Given the description of an element on the screen output the (x, y) to click on. 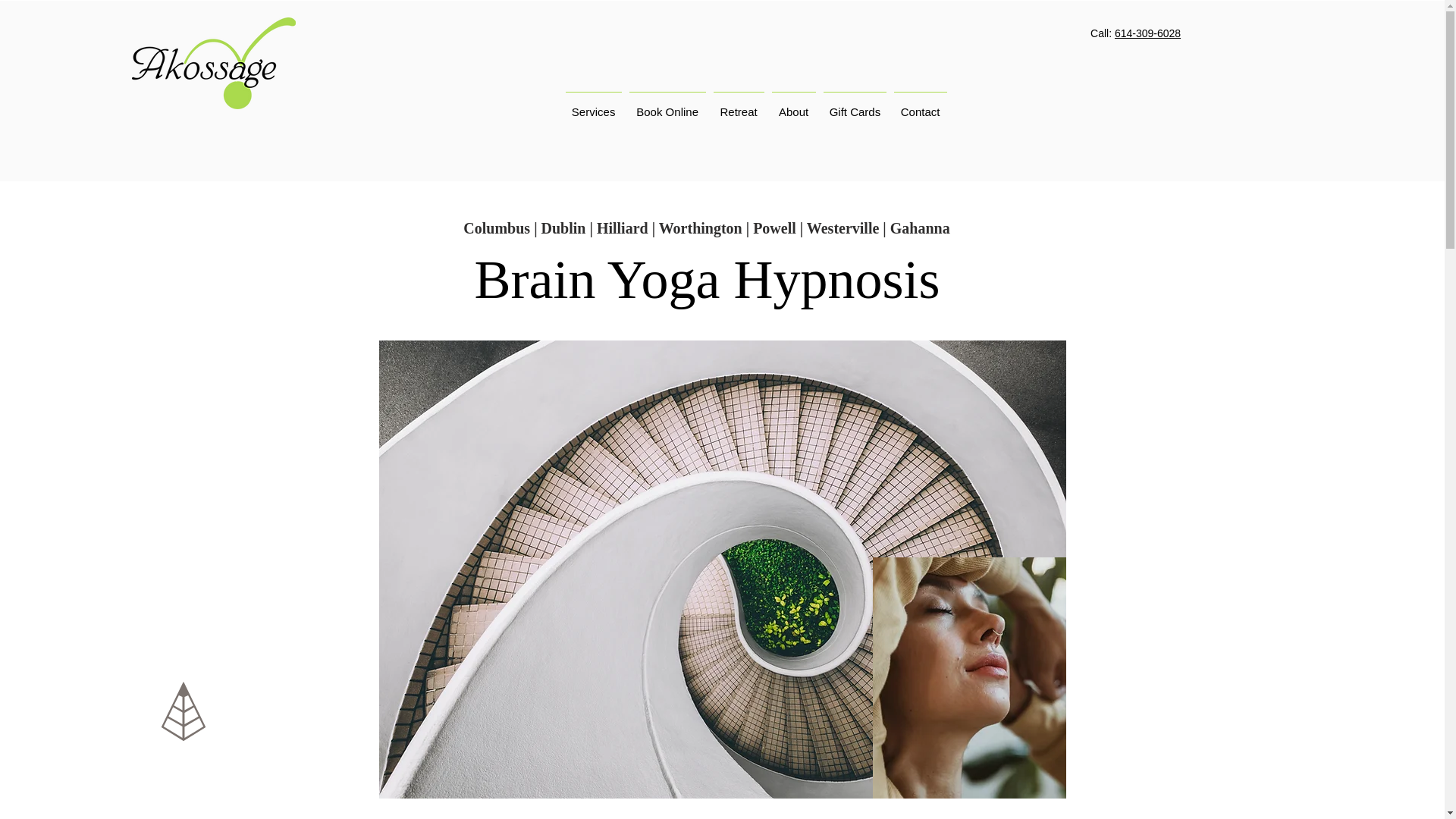
Retreat (739, 104)
About (793, 104)
Gift Cards (854, 104)
614-309-6028 (1147, 33)
Book Online (668, 104)
Contact (919, 104)
